Given the description of an element on the screen output the (x, y) to click on. 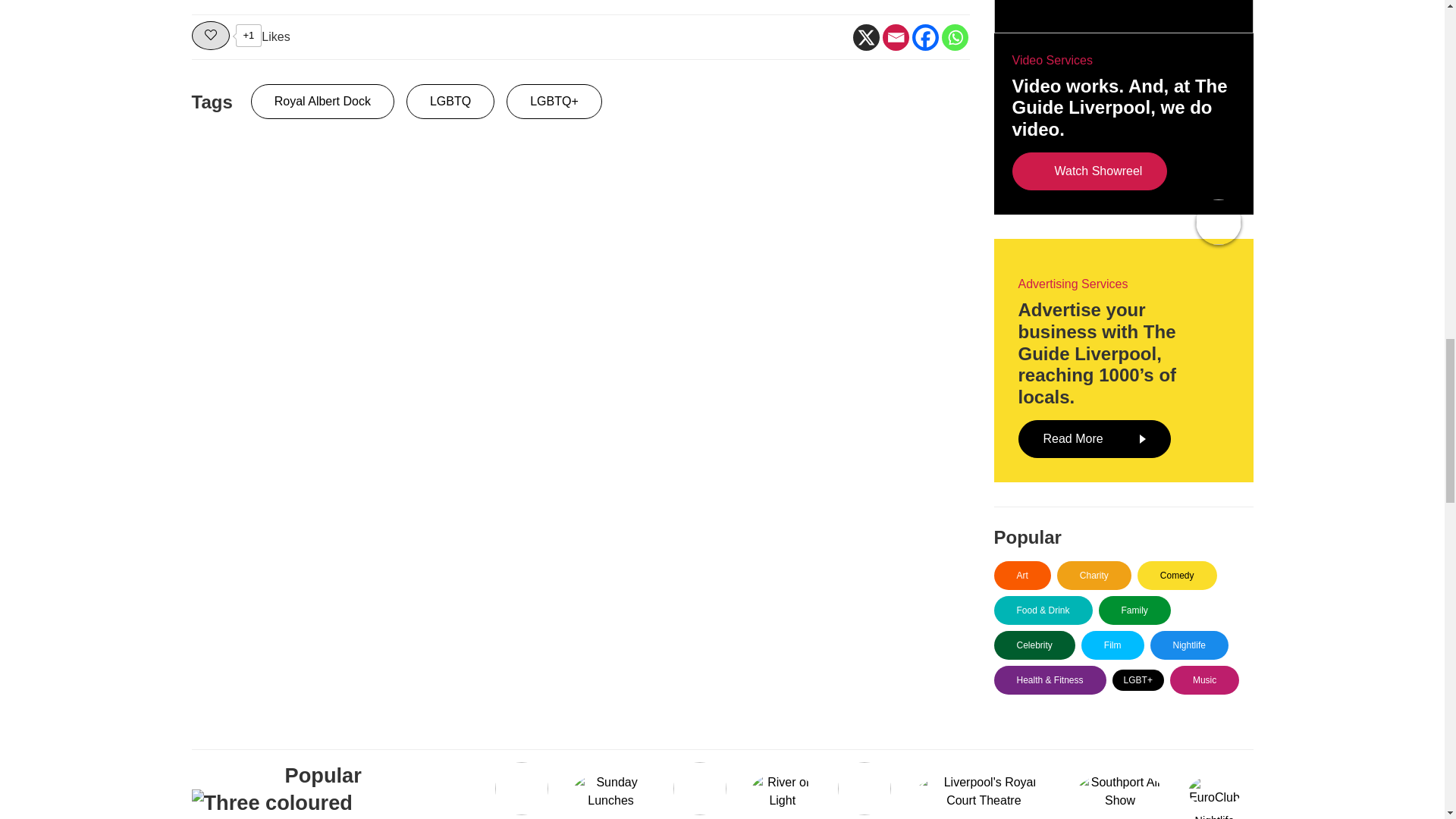
Facebook (924, 37)
Whatsapp (955, 37)
X (865, 37)
Email (895, 37)
